Given the description of an element on the screen output the (x, y) to click on. 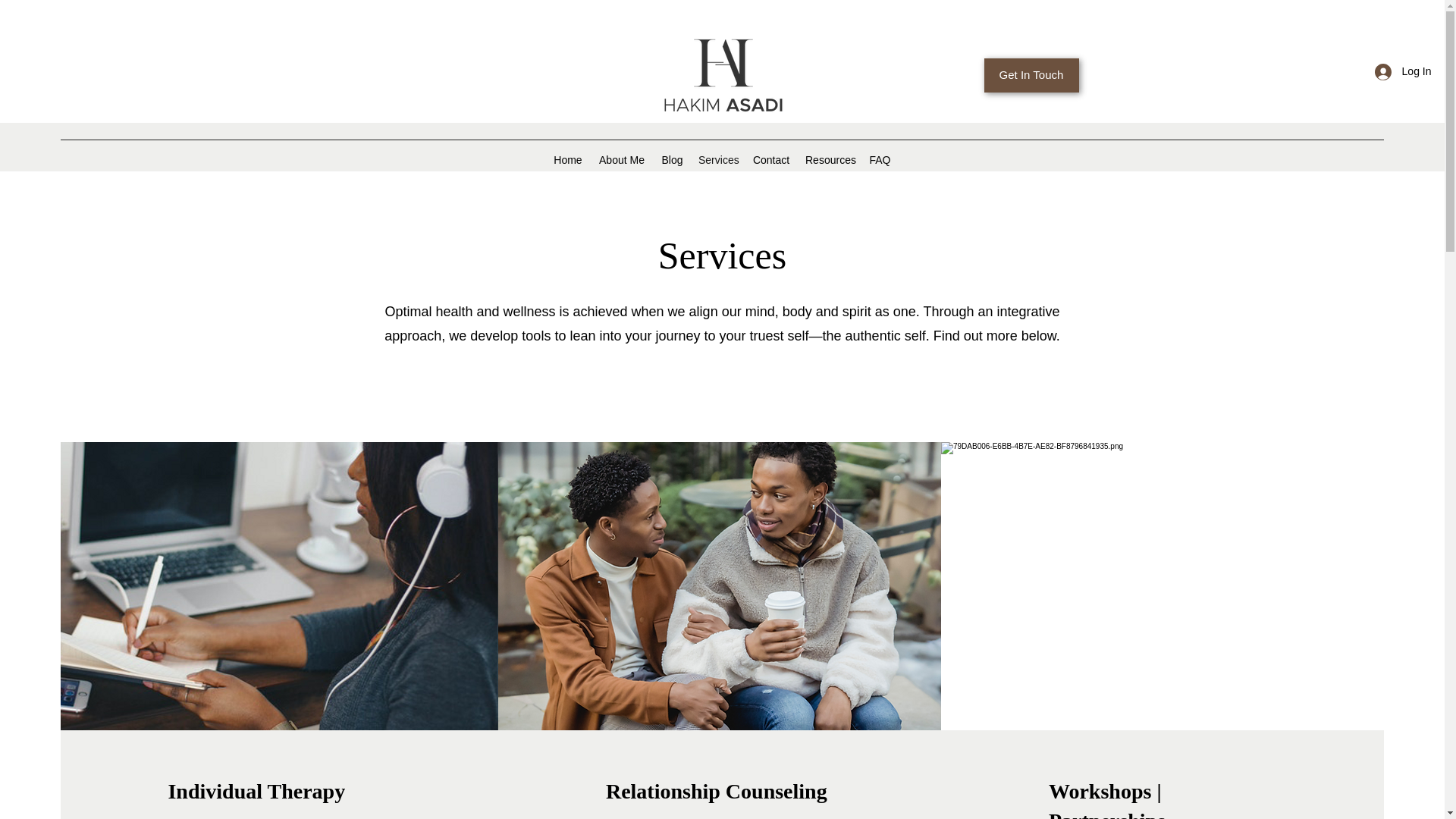
Contact (770, 159)
Services (717, 159)
Get In Touch (1031, 75)
Home (567, 159)
Log In (1403, 71)
Resources (829, 159)
Blog (671, 159)
FAQ (879, 159)
About Me (621, 159)
